Given the description of an element on the screen output the (x, y) to click on. 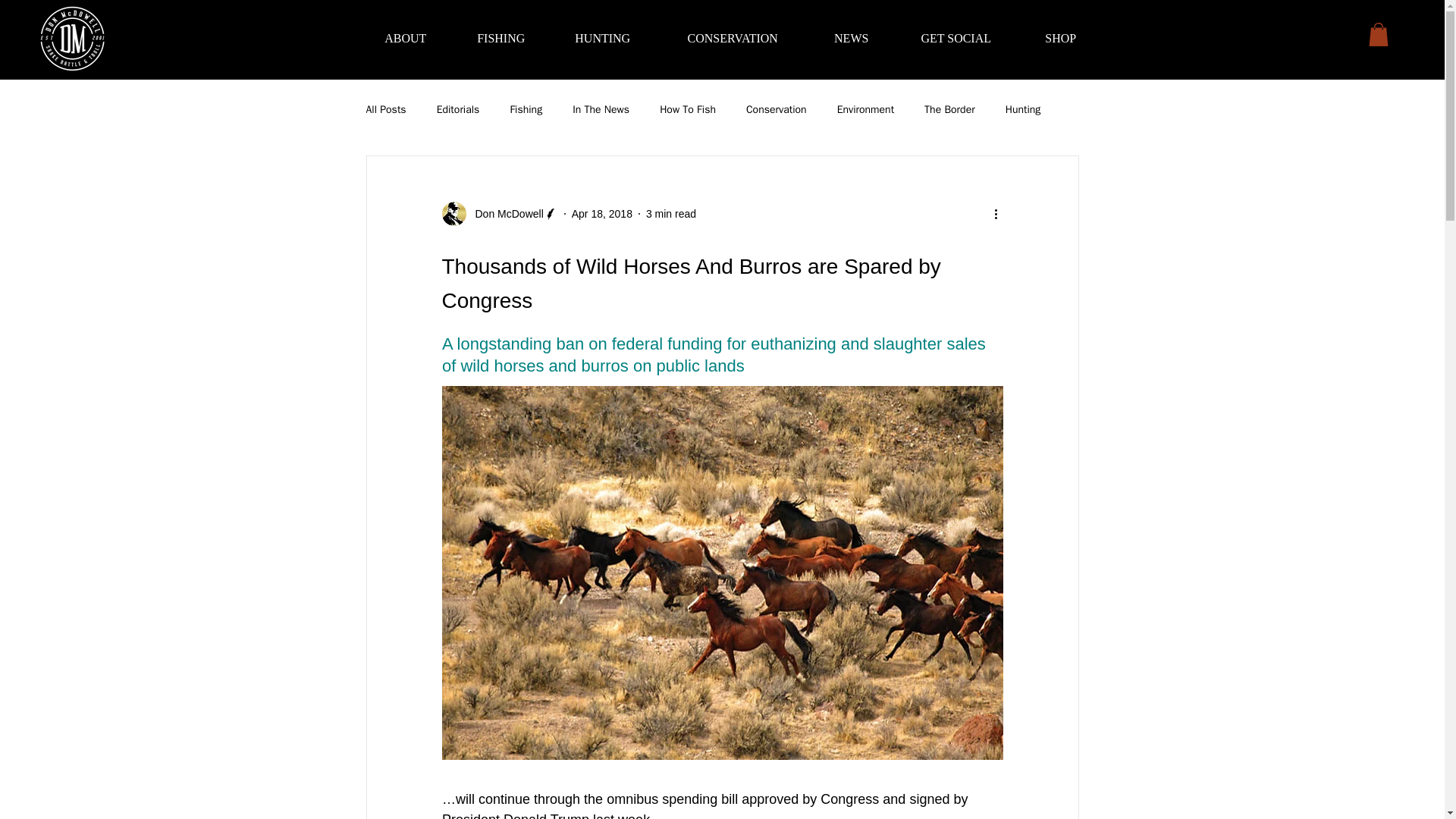
3 min read (670, 214)
FISHING (500, 38)
ABOUT (404, 38)
Don McDowell (504, 213)
Apr 18, 2018 (601, 214)
